Given the description of an element on the screen output the (x, y) to click on. 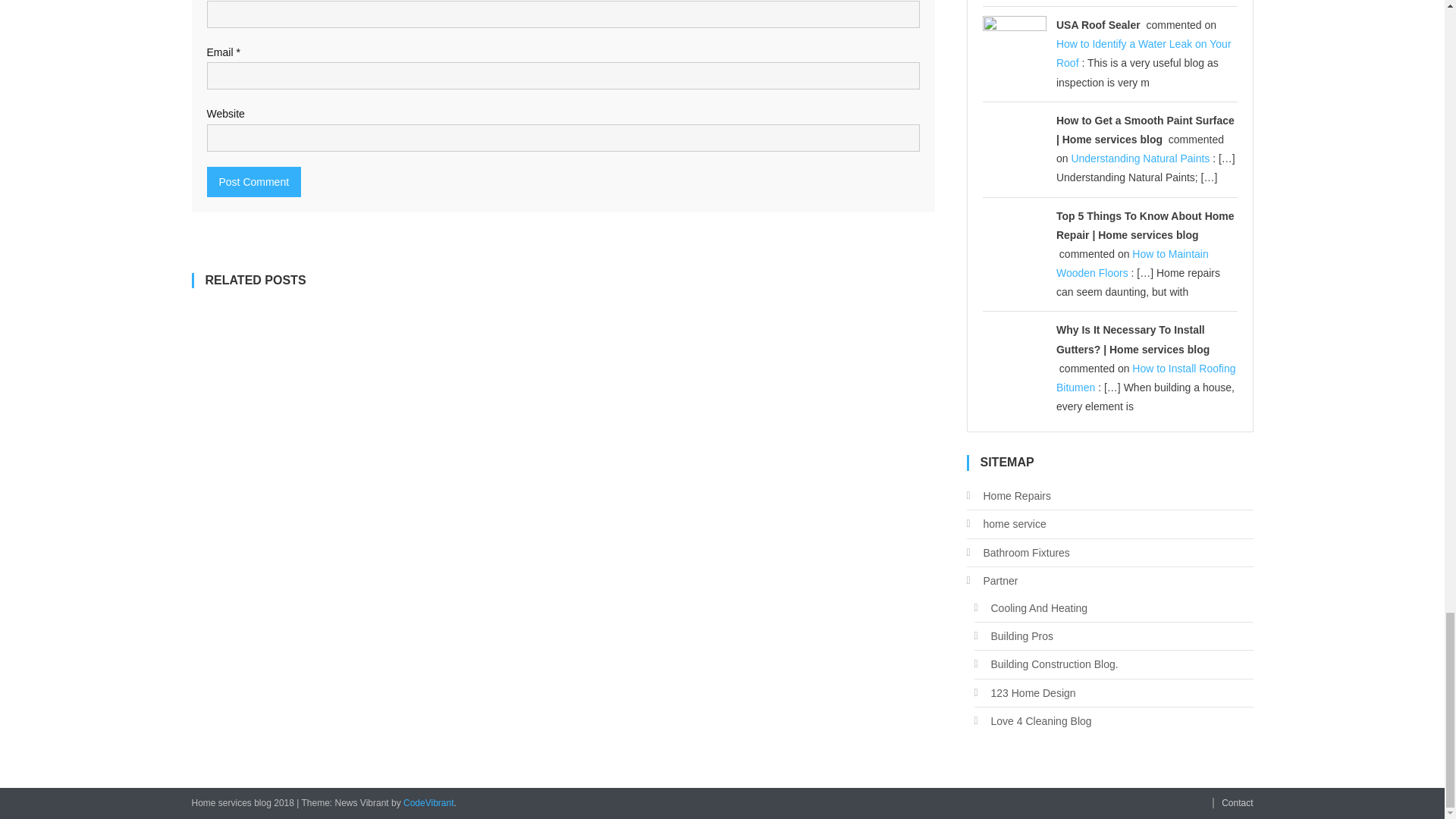
Post Comment (253, 182)
Understanding Natural Paints (1139, 158)
How to Maintain Wooden Floors (1132, 263)
How to Identify a Water Leak on Your Roof (1144, 52)
How to Install Roofing Bitumen (1146, 377)
